Given the description of an element on the screen output the (x, y) to click on. 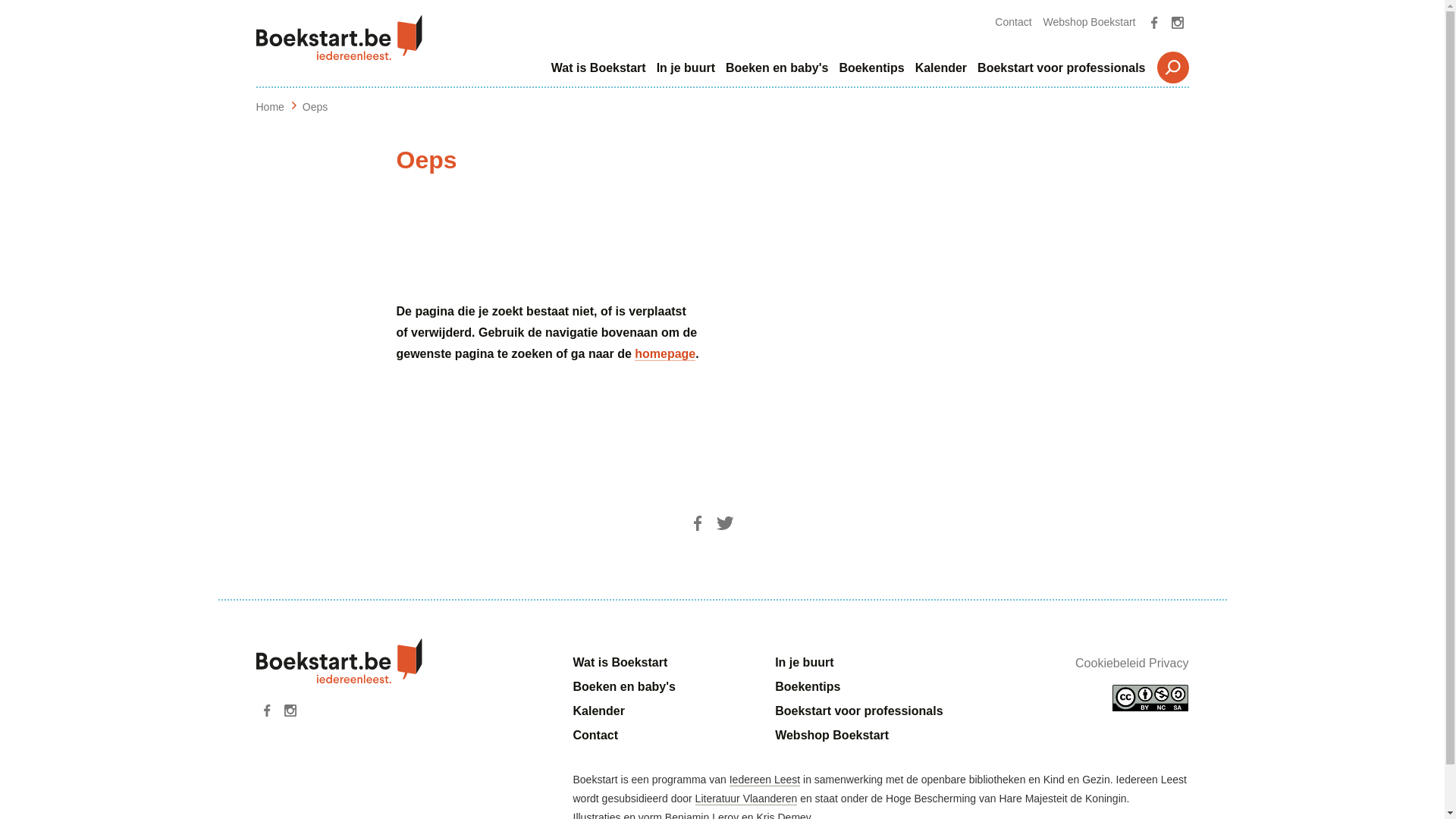
Boekstart voor professionals Element type: text (1061, 68)
homepage Element type: text (664, 353)
Facebook Element type: text (267, 710)
Wat is Boekstart Element type: text (620, 662)
Boekstart voor professionals Element type: text (858, 710)
Privacy Element type: text (1168, 662)
Facebook Element type: text (1154, 22)
Boeken en baby's Element type: text (624, 686)
Wat is Boekstart Element type: text (598, 68)
Literatuur Vlaanderen Element type: text (746, 798)
Webshop Boekstart Element type: text (1089, 21)
Creative Commons Element type: text (1150, 697)
E-mail Element type: text (751, 522)
Contact Element type: text (595, 735)
Boekentips Element type: text (807, 686)
Contact Element type: text (1012, 21)
Facebook Element type: text (697, 522)
In je buurt Element type: text (804, 662)
Kalender Element type: text (940, 68)
Instagram Element type: text (290, 710)
Cookiebeleid Element type: text (1110, 662)
Boekstart Element type: text (339, 37)
Webshop Boekstart Element type: text (831, 735)
Boeken en baby's Element type: text (776, 68)
Instagram Element type: text (1177, 22)
Overslaan en naar de inhoud gaan Element type: text (0, 0)
Home Element type: text (270, 106)
Kalender Element type: text (598, 710)
Boekentips Element type: text (870, 68)
In je buurt Element type: text (685, 68)
Twitter Element type: text (724, 522)
Iedereen Leest Element type: text (764, 779)
Zoeken Element type: text (1173, 67)
